Given the description of an element on the screen output the (x, y) to click on. 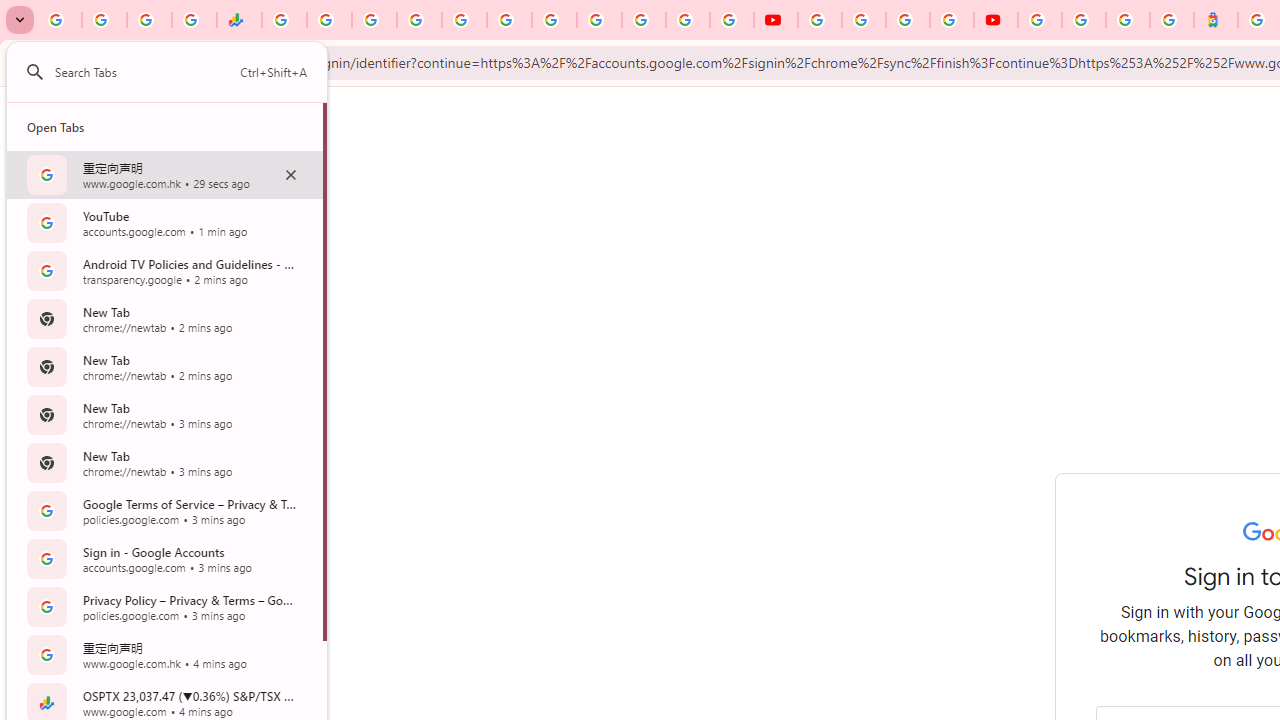
Sign in - Google Accounts (418, 20)
Google Account Help (863, 20)
Sign in - Google Accounts (1083, 20)
Android TV Policies and Guidelines - Transparency Center (554, 20)
AutomationID: baseSvg (34, 71)
Content Creator Programs & Opportunities - YouTube Creators (995, 20)
YouTube (819, 20)
Atour Hotel - Google hotels (1215, 20)
